Given the description of an element on the screen output the (x, y) to click on. 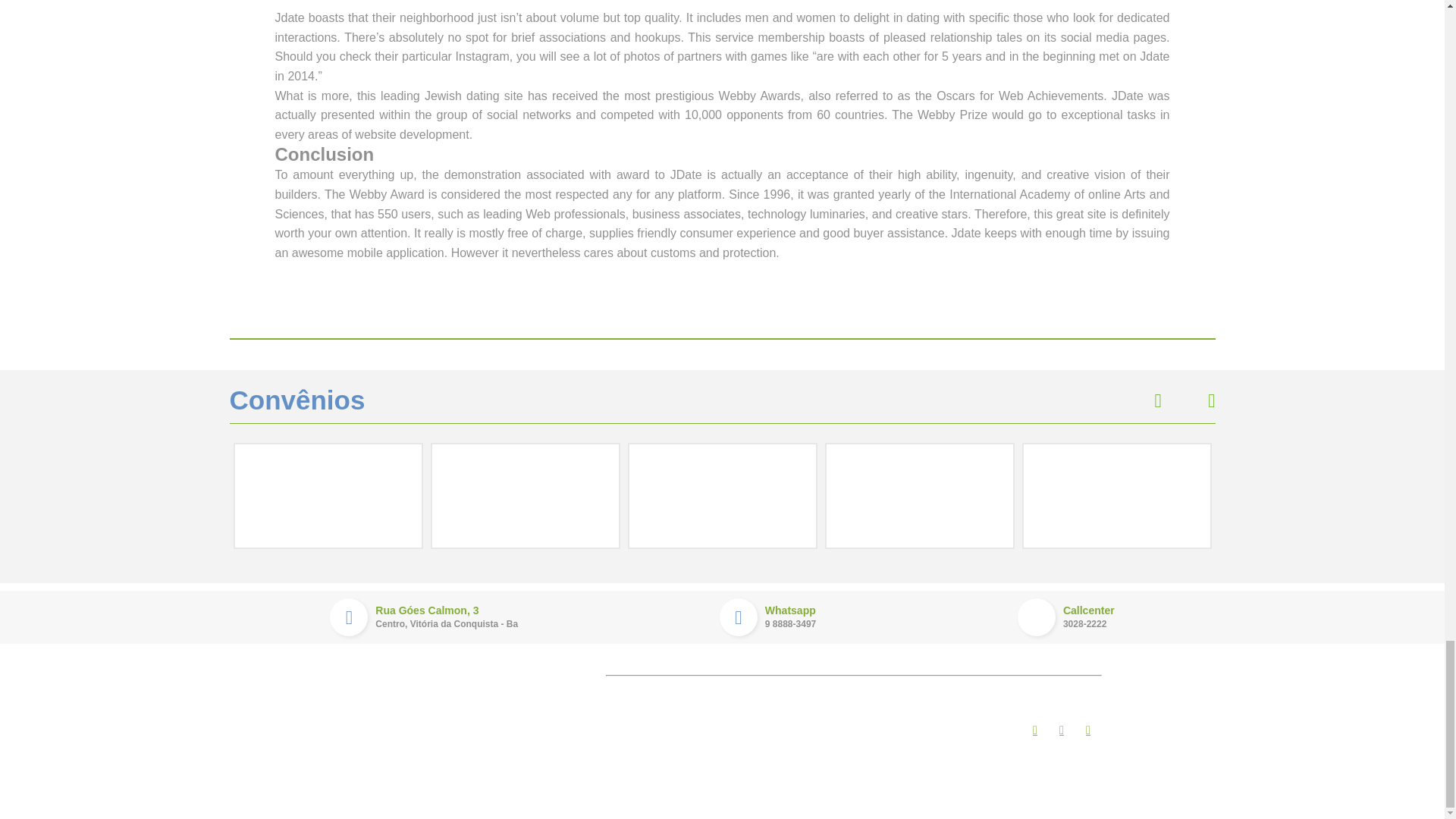
FAQ (767, 617)
Contato (579, 768)
